Given the description of an element on the screen output the (x, y) to click on. 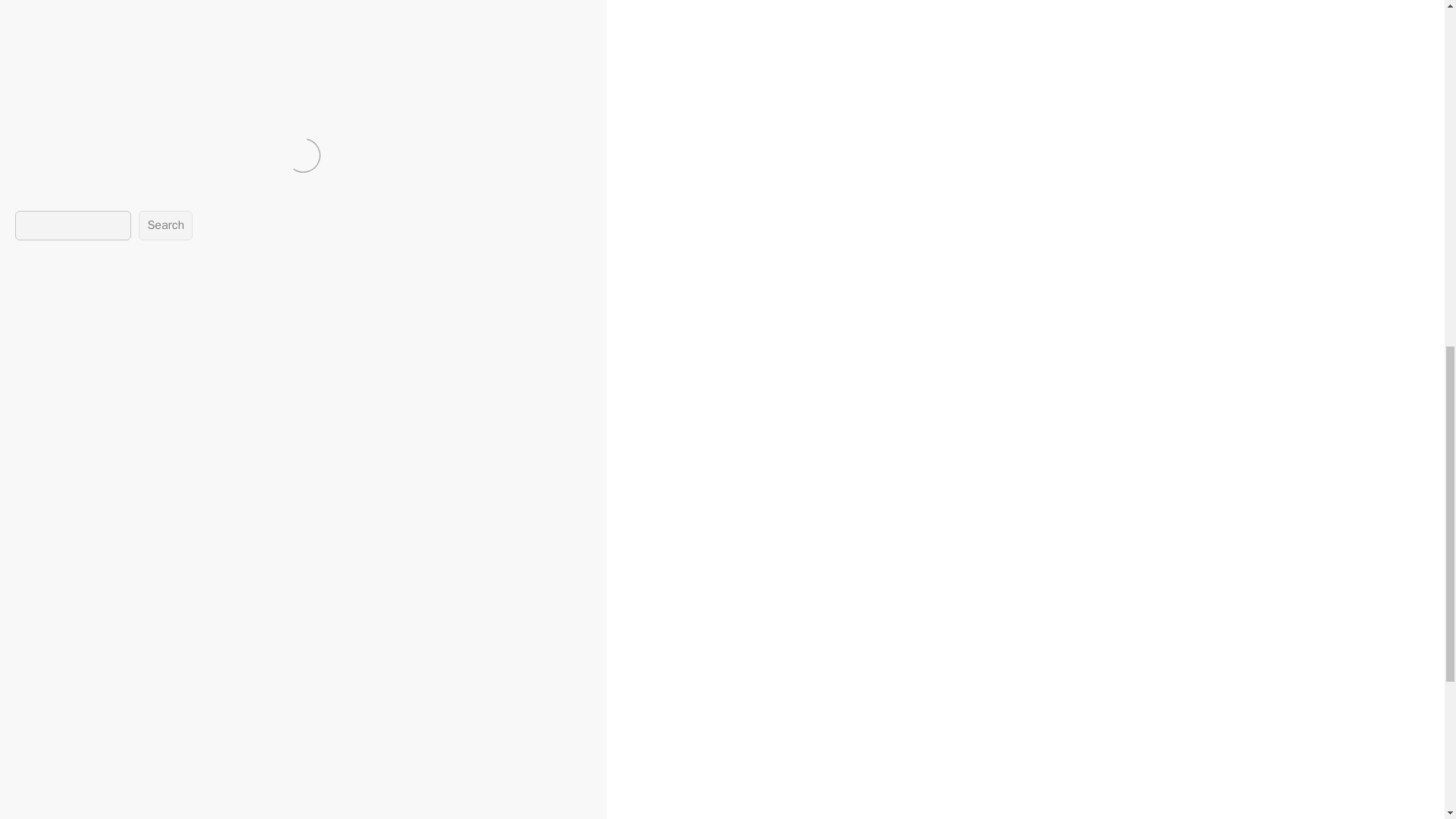
February 2024 (132, 673)
November 2023 (137, 724)
January 2024 (130, 691)
July 2023 (120, 792)
September 2023 (140, 758)
9 Situs Togel Online Terbaik untuk Penggemar Togel (286, 389)
August 2024 (128, 572)
June 2023 (122, 809)
May 2024 (121, 622)
